Given the description of an element on the screen output the (x, y) to click on. 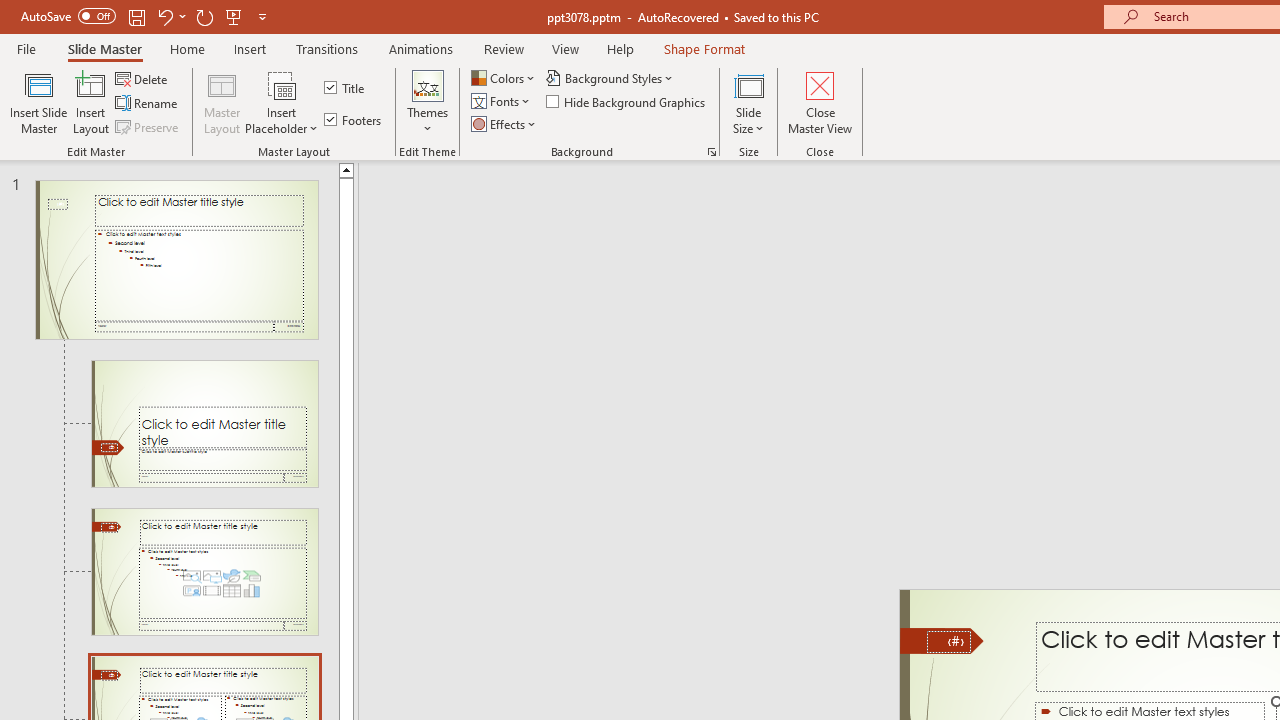
Format Background... (711, 151)
